Given the description of an element on the screen output the (x, y) to click on. 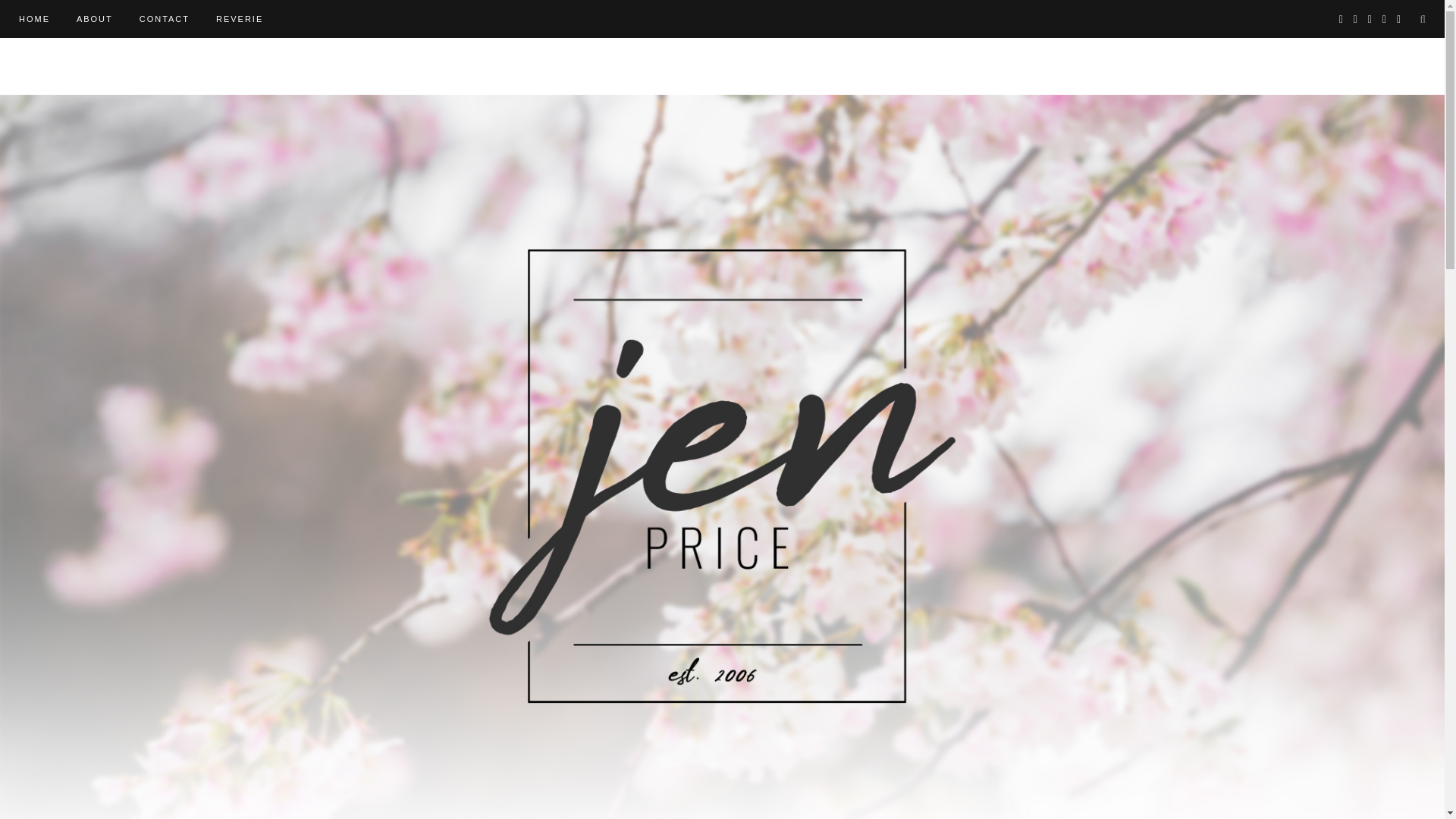
REVERIE (239, 18)
ABOUT (95, 18)
CONTACT (164, 18)
